Given the description of an element on the screen output the (x, y) to click on. 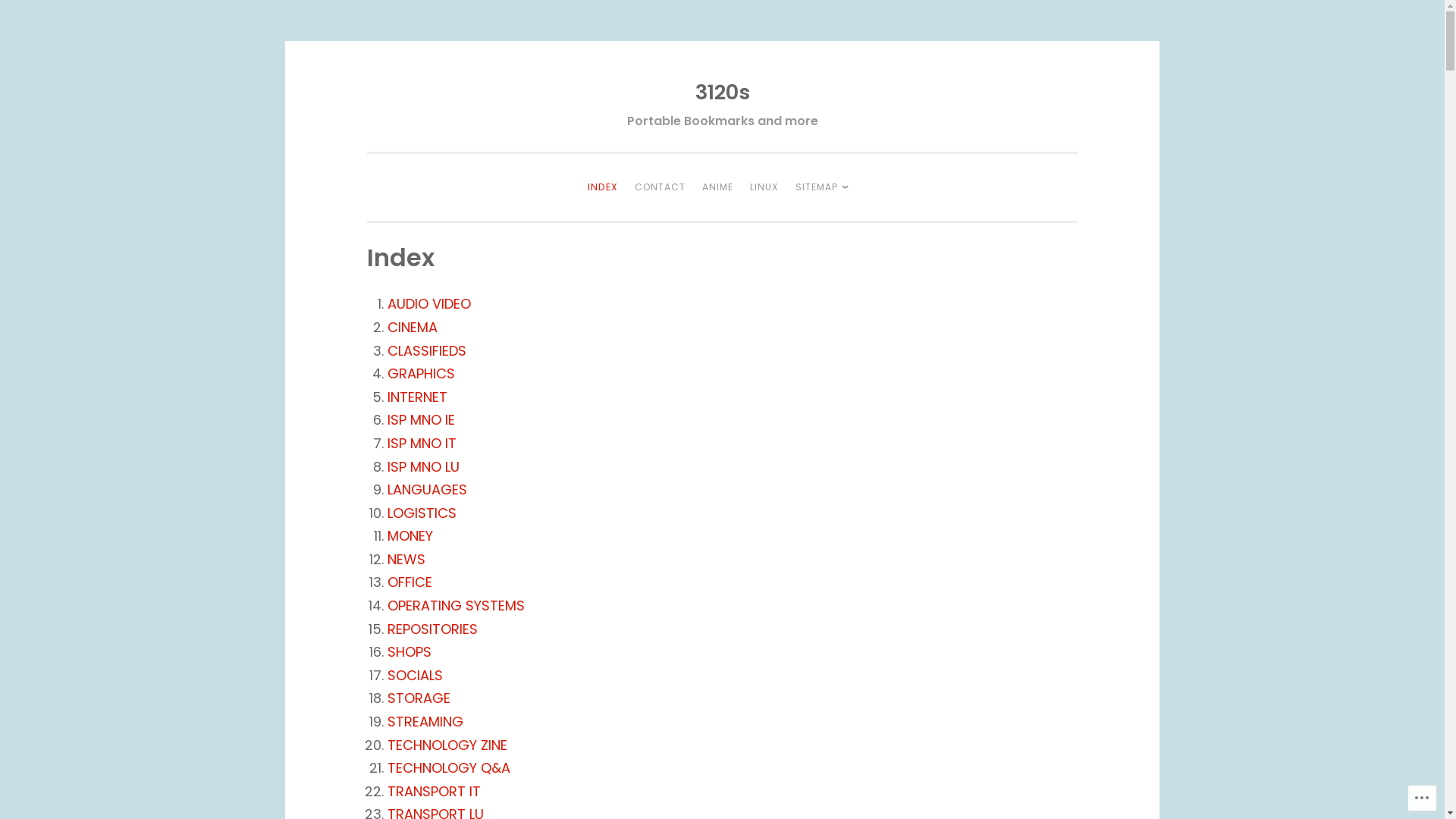
INDEX Element type: text (602, 187)
SHOPS Element type: text (409, 651)
GRAPHICS Element type: text (421, 373)
STREAMING Element type: text (425, 721)
CLASSIFIEDS Element type: text (426, 350)
INTERNET Element type: text (417, 396)
ISP MNO LU Element type: text (423, 465)
TRANSPORT IT Element type: text (433, 790)
SITEMAP Element type: text (825, 187)
REPOSITORIES Element type: text (432, 628)
OFFICE Element type: text (409, 581)
CINEMA Element type: text (412, 326)
LOGISTICS Element type: text (421, 512)
STORAGE Element type: text (418, 697)
ANIME Element type: text (717, 187)
LANGUAGES Element type: text (427, 489)
ISP MNO IT Element type: text (421, 442)
SOCIALS Element type: text (414, 674)
AUDIO VIDEO Element type: text (428, 303)
LINUX Element type: text (764, 187)
OPERATING SYSTEMS Element type: text (455, 605)
MONEY Element type: text (410, 535)
ISP MNO IE Element type: text (421, 419)
TECHNOLOGY Q&A Element type: text (448, 767)
CONTACT Element type: text (659, 187)
3120s Element type: text (721, 92)
NEWS Element type: text (406, 558)
TECHNOLOGY ZINE Element type: text (447, 744)
